Given the description of an element on the screen output the (x, y) to click on. 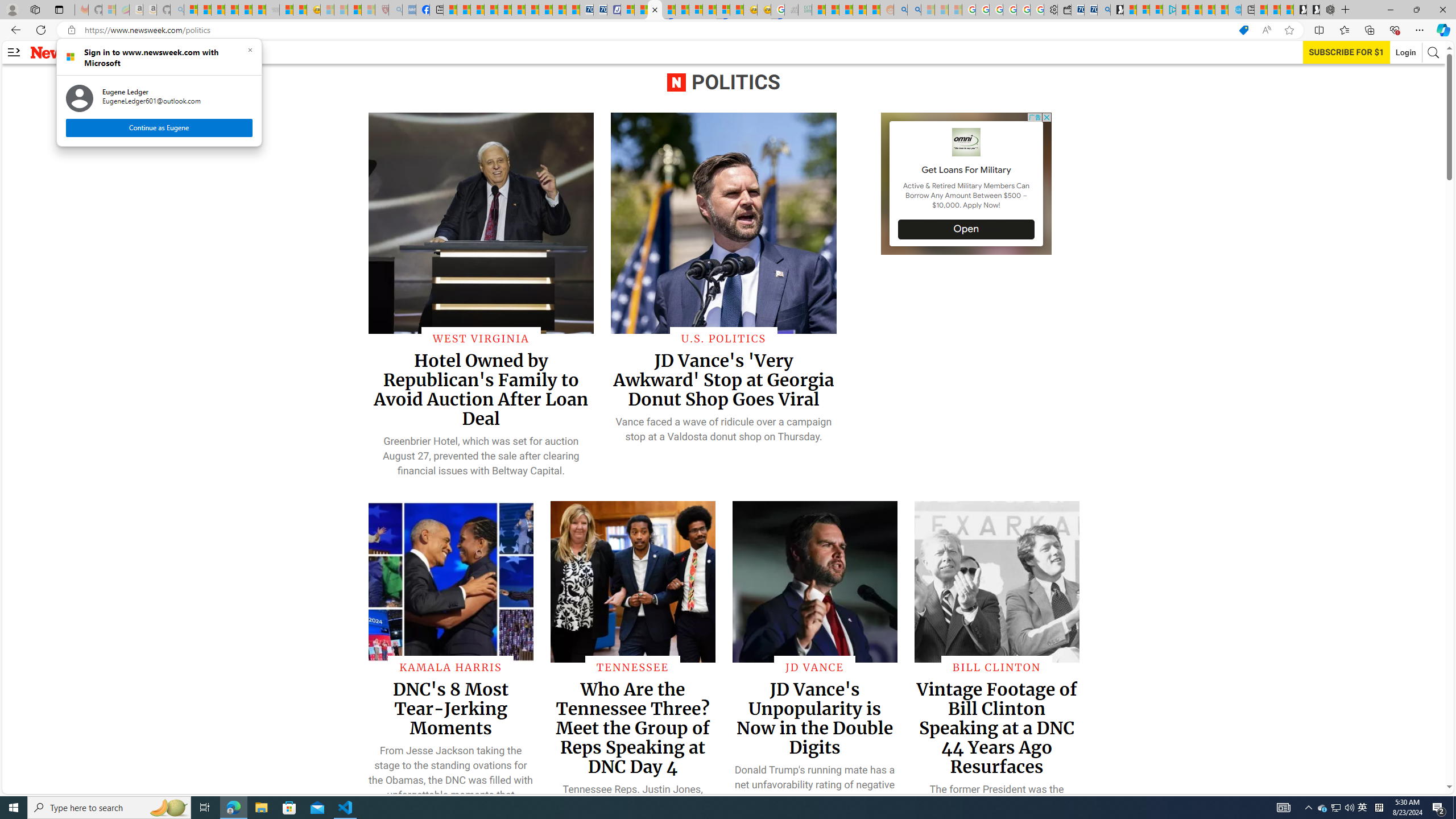
Start (13, 807)
Visual Studio Code - 1 running window (345, 807)
Student Loan Update: Forgiveness Program Ends This Month (858, 9)
Open (966, 228)
Get Loans For Military (966, 170)
JD Vance's Unpopularity is Now in the Double Digits (814, 718)
New Report Confirms 2023 Was Record Hot | Watch (245, 9)
